Given the description of an element on the screen output the (x, y) to click on. 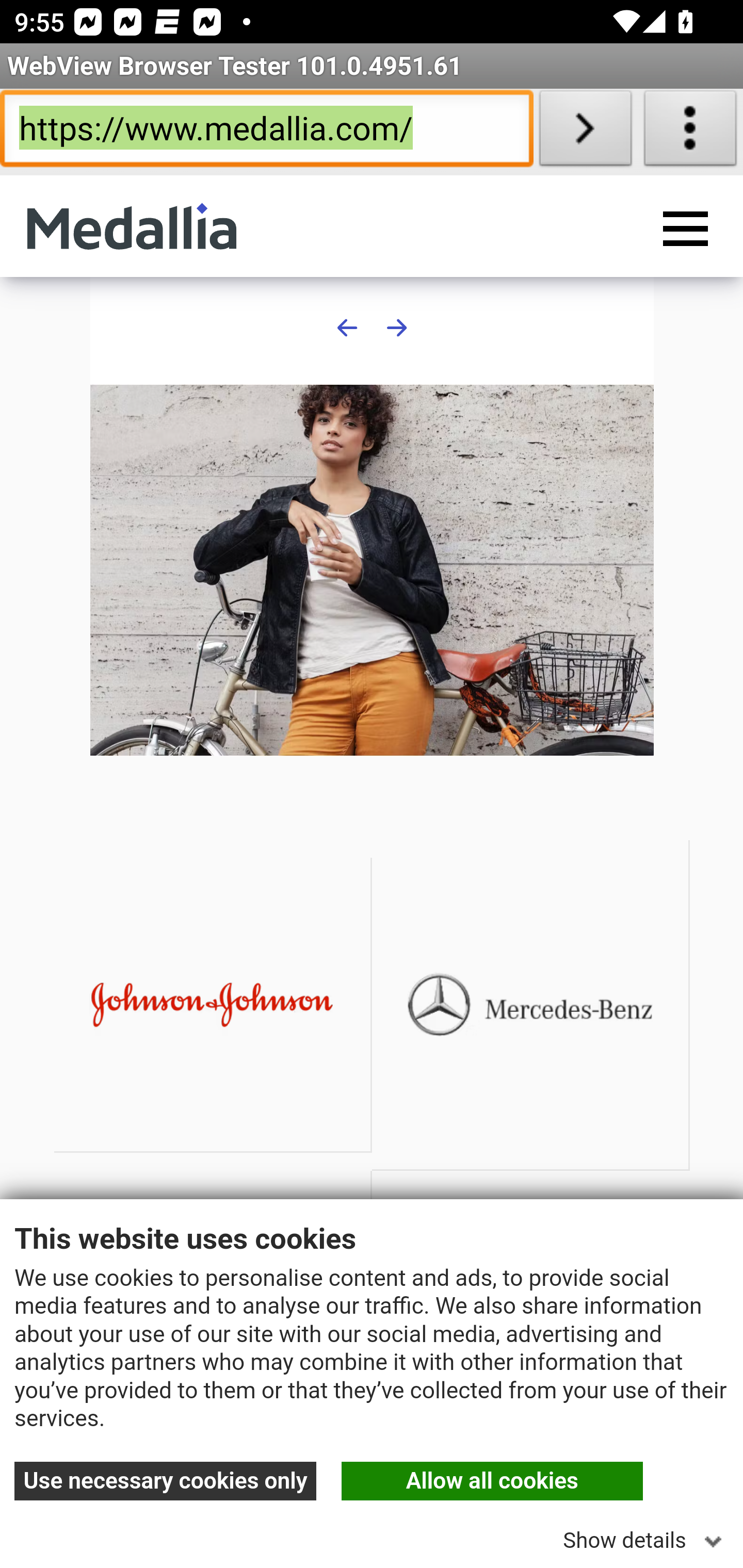
https://www.medallia.com/ (266, 132)
Load URL (585, 132)
About WebView (690, 132)
Medallia (131, 226)
arrow left short (347, 327)
arrow right short (395, 327)
mercedes-benz (530, 1004)
johnson-johnson (213, 1004)
Use necessary cookies only (166, 1481)
Allow all cookies (491, 1481)
Show details (646, 1534)
